Given the description of an element on the screen output the (x, y) to click on. 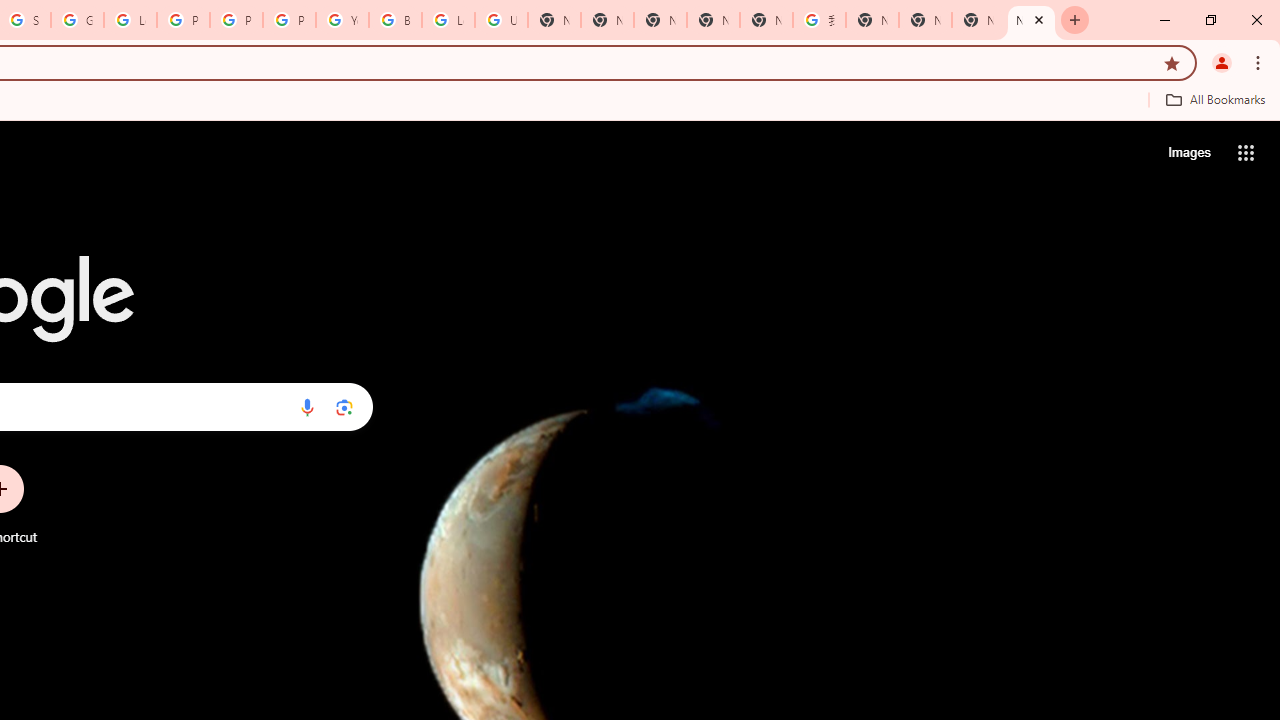
New Tab (1031, 20)
YouTube (342, 20)
